Given the description of an element on the screen output the (x, y) to click on. 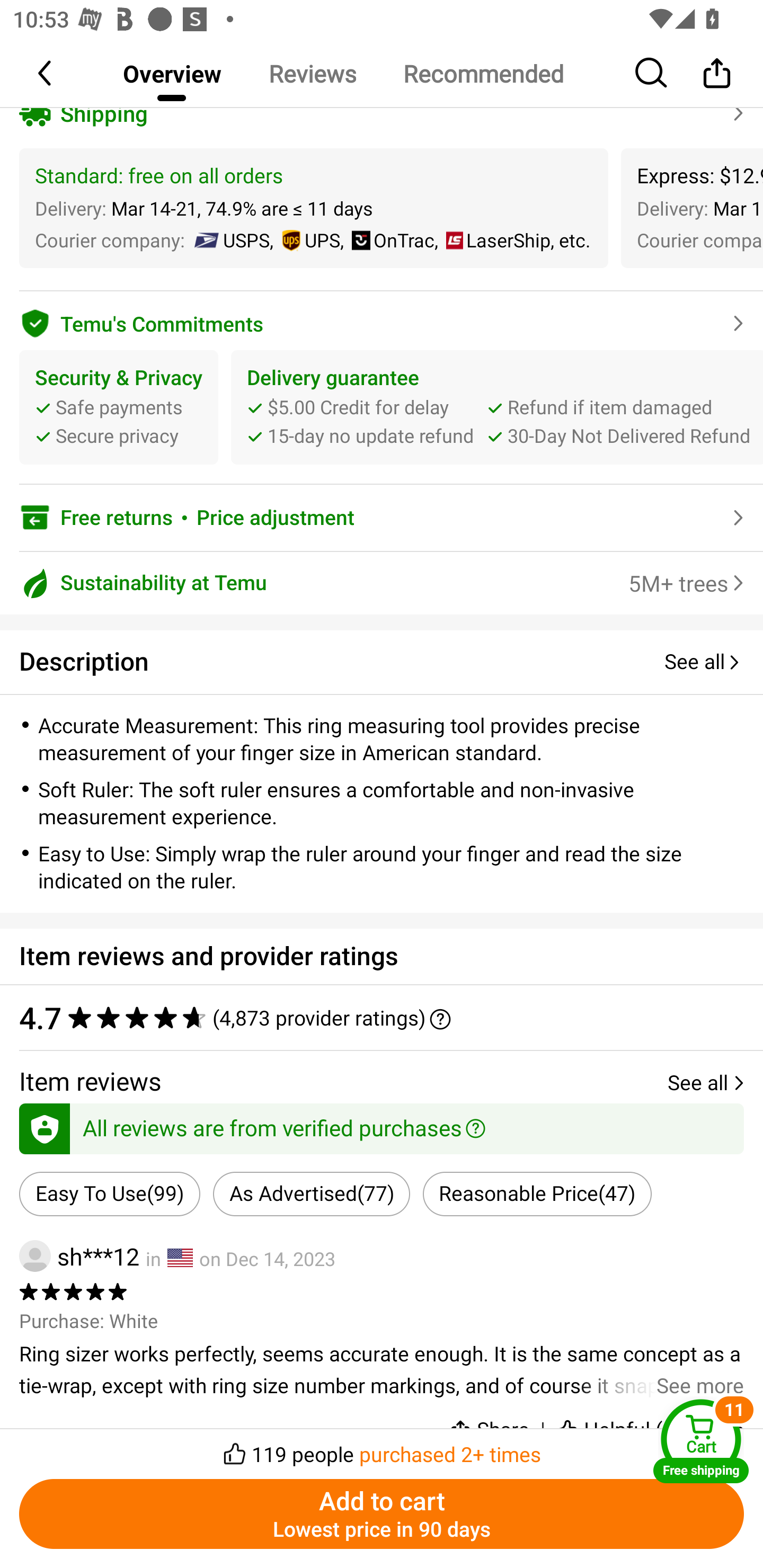
Overview (171, 72)
Reviews (311, 72)
Recommended (482, 72)
Back (46, 72)
Share (716, 72)
Shipping (381, 113)
Temu's Commitments (381, 320)
Security & Privacy Safe payments Secure privacy (118, 406)
Free returns￼Price adjustment (381, 517)
Sustainability at Temu 5M+ trees (381, 582)
See all  (703, 662)
4.7 ‪(4,873 provider ratings) (381, 1017)
All reviews are from verified purchases  (381, 1125)
Easy To Use(99) (109, 1193)
As Advertised(77) (311, 1193)
Reasonable Price(47) (536, 1193)
sh***12 (79, 1255)
See more (381, 1370)
Cart Free shipping Cart (701, 1440)
￼￼119 people purchased 2+ times (381, 1448)
Add to cart Lowest price in 90 days (381, 1513)
